Given the description of an element on the screen output the (x, y) to click on. 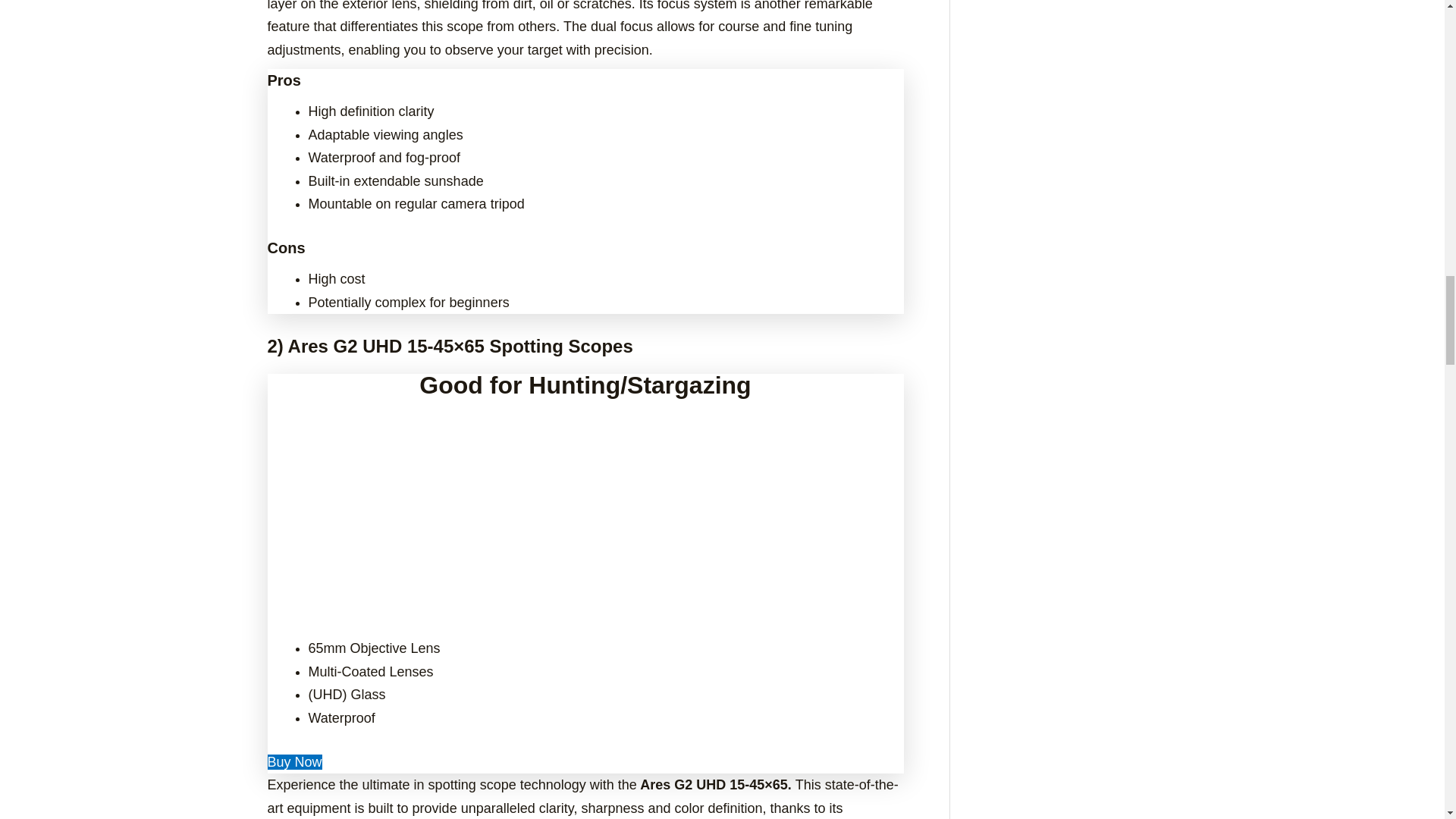
Buy Now (293, 761)
